Given the description of an element on the screen output the (x, y) to click on. 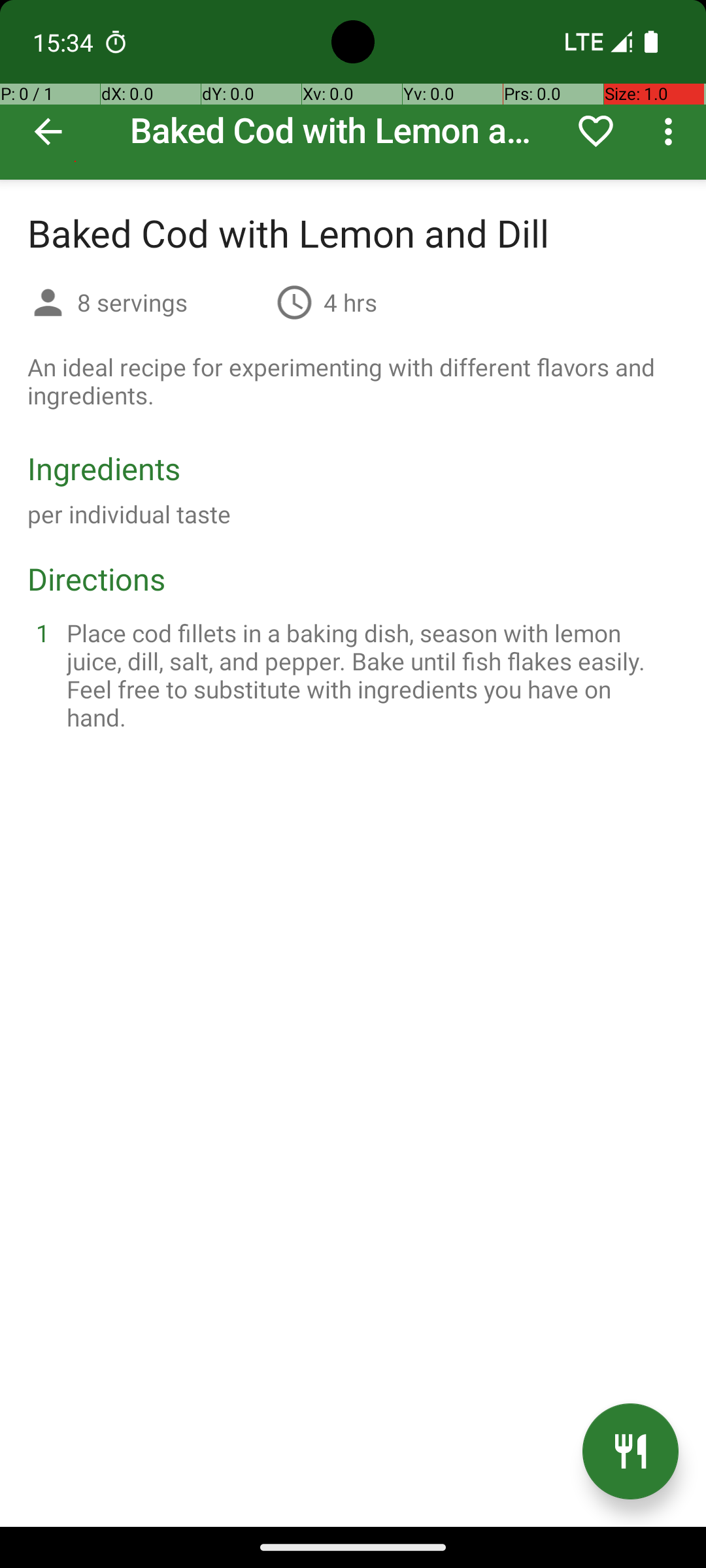
Place cod fillets in a baking dish, season with lemon juice, dill, salt, and pepper. Bake until fish flakes easily. Feel free to substitute with ingredients you have on hand. Element type: android.widget.TextView (368, 674)
